Given the description of an element on the screen output the (x, y) to click on. 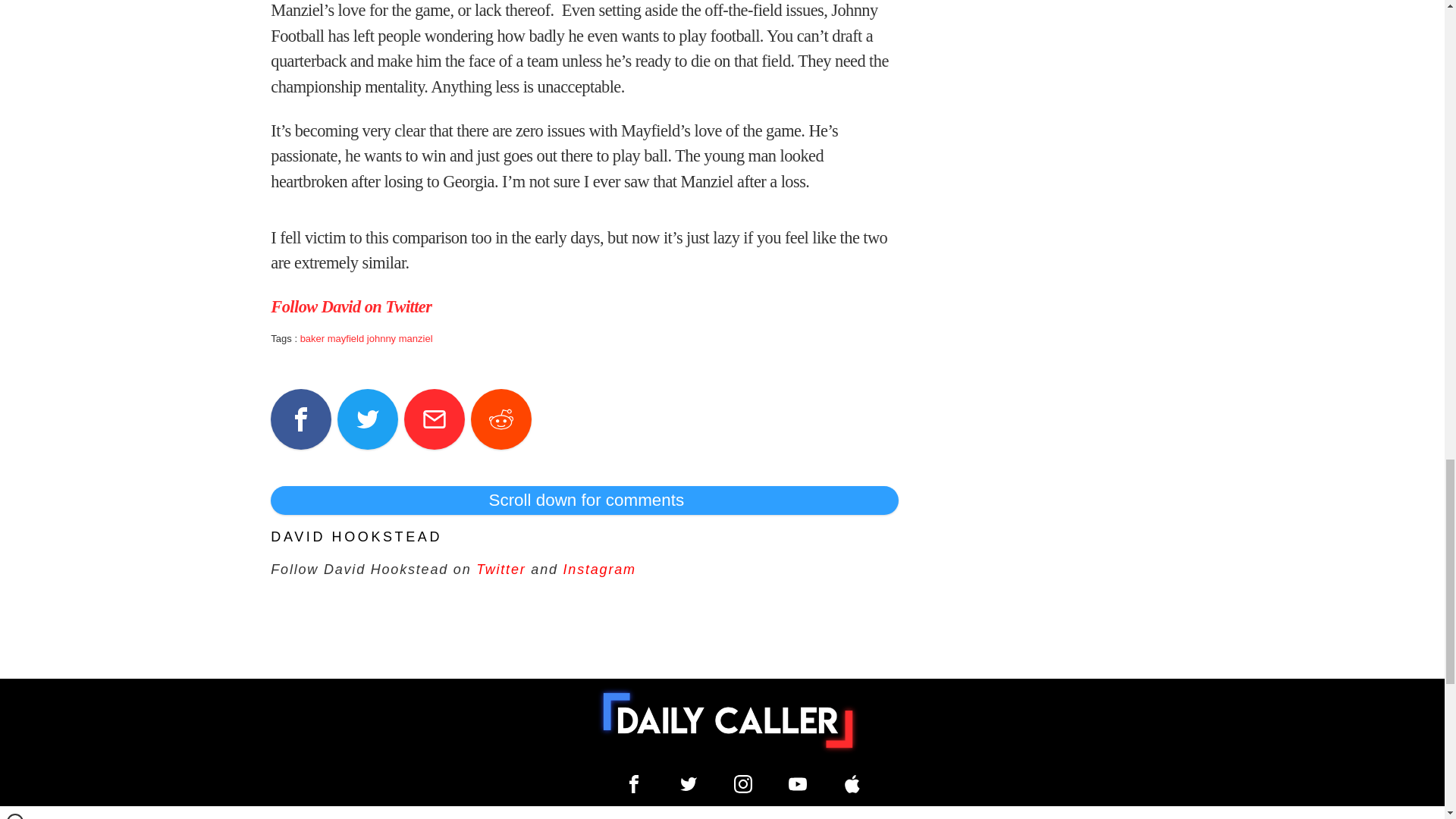
Daily Caller Instagram (742, 783)
Follow David on Twitter (350, 306)
To home page (727, 719)
Daily Caller Twitter (688, 783)
Daily Caller YouTube (852, 783)
Scroll down for comments (584, 500)
Daily Caller YouTube (797, 783)
Daily Caller Facebook (633, 783)
